Given the description of an element on the screen output the (x, y) to click on. 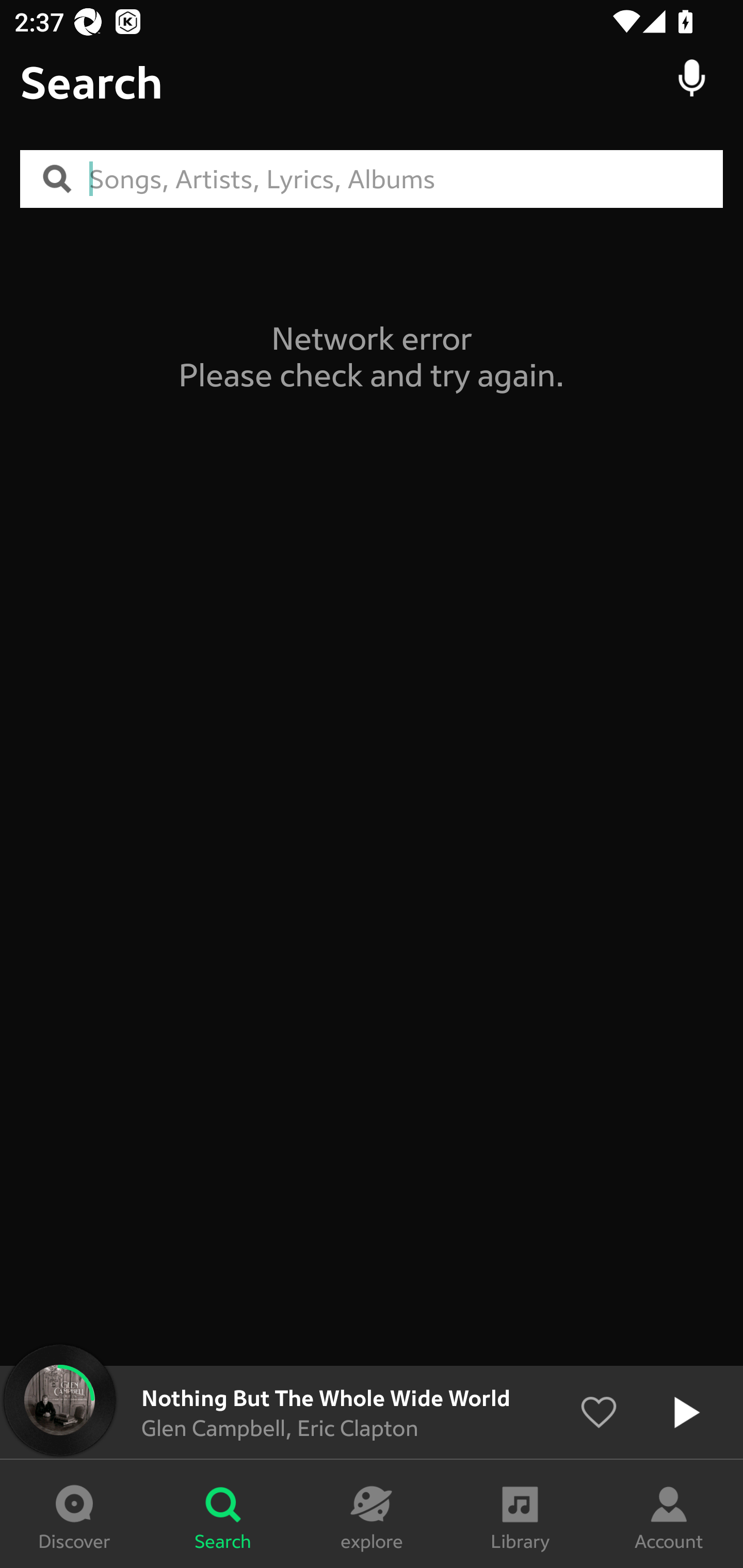
Songs, Artists, Lyrics, Albums (405, 179)
Network error
Please check and try again. (371, 355)
Discover (74, 1513)
explore (371, 1513)
Library (519, 1513)
Account (668, 1513)
